Given the description of an element on the screen output the (x, y) to click on. 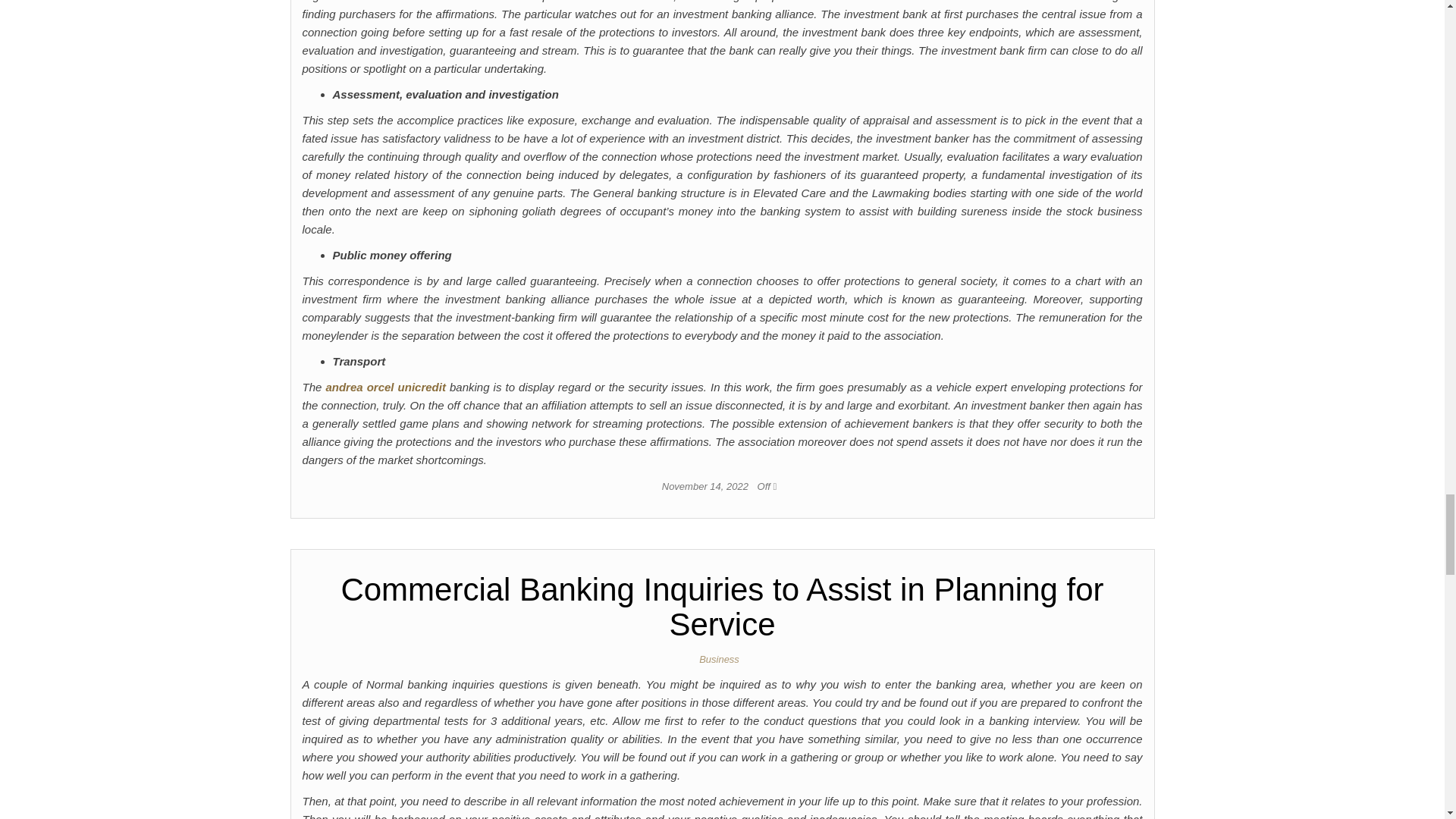
Business (721, 659)
andrea orcel unicredit (384, 386)
